Given the description of an element on the screen output the (x, y) to click on. 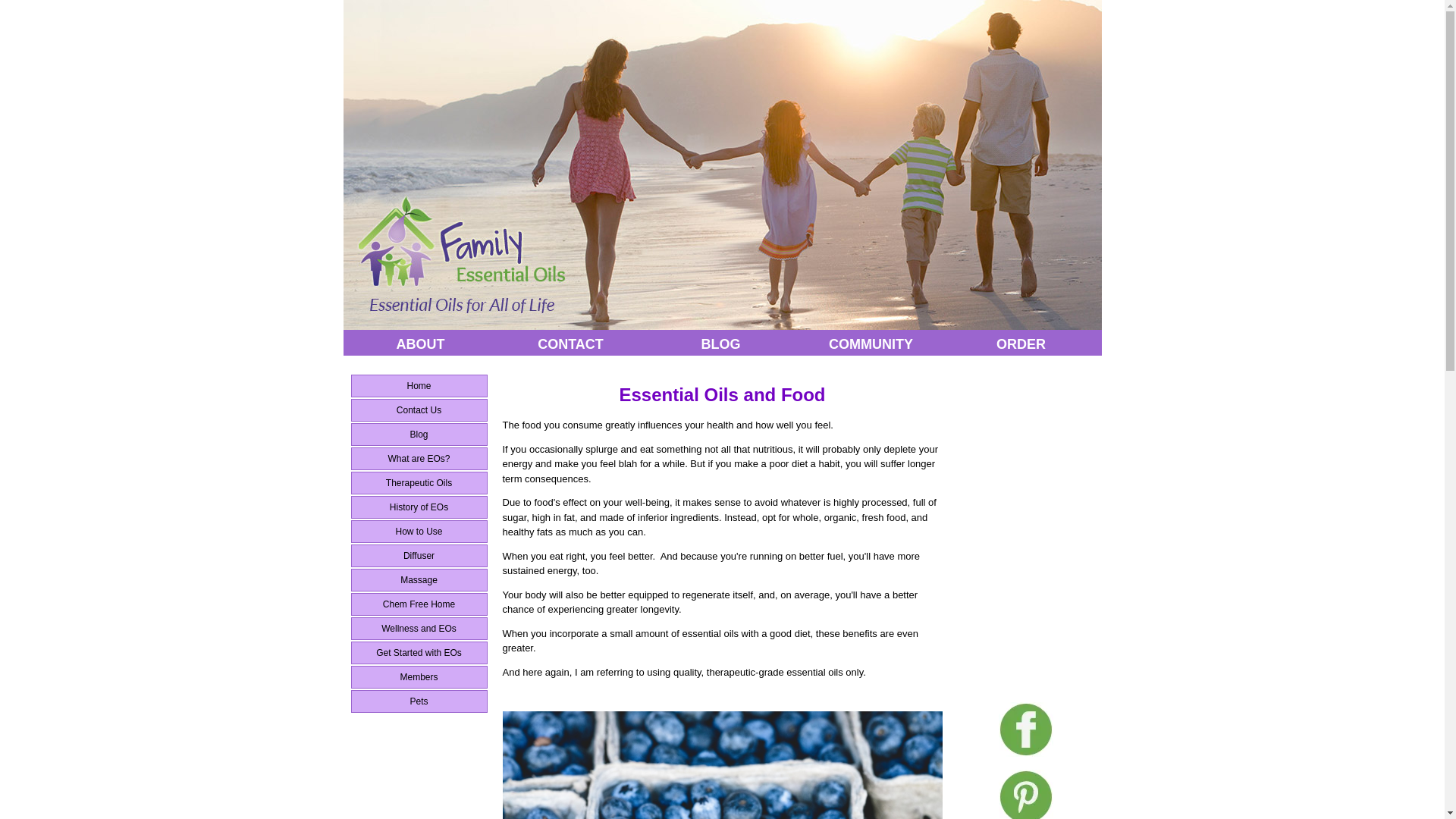
What are EOs? (418, 458)
ORDER (1021, 344)
BLOG (721, 344)
COMMUNITY (871, 344)
Chem Free Home (418, 603)
Diffuser (418, 555)
CONTACT (571, 344)
Wellness and EOs (418, 628)
Get Started with EOs (418, 652)
Contact Us (418, 409)
